Given the description of an element on the screen output the (x, y) to click on. 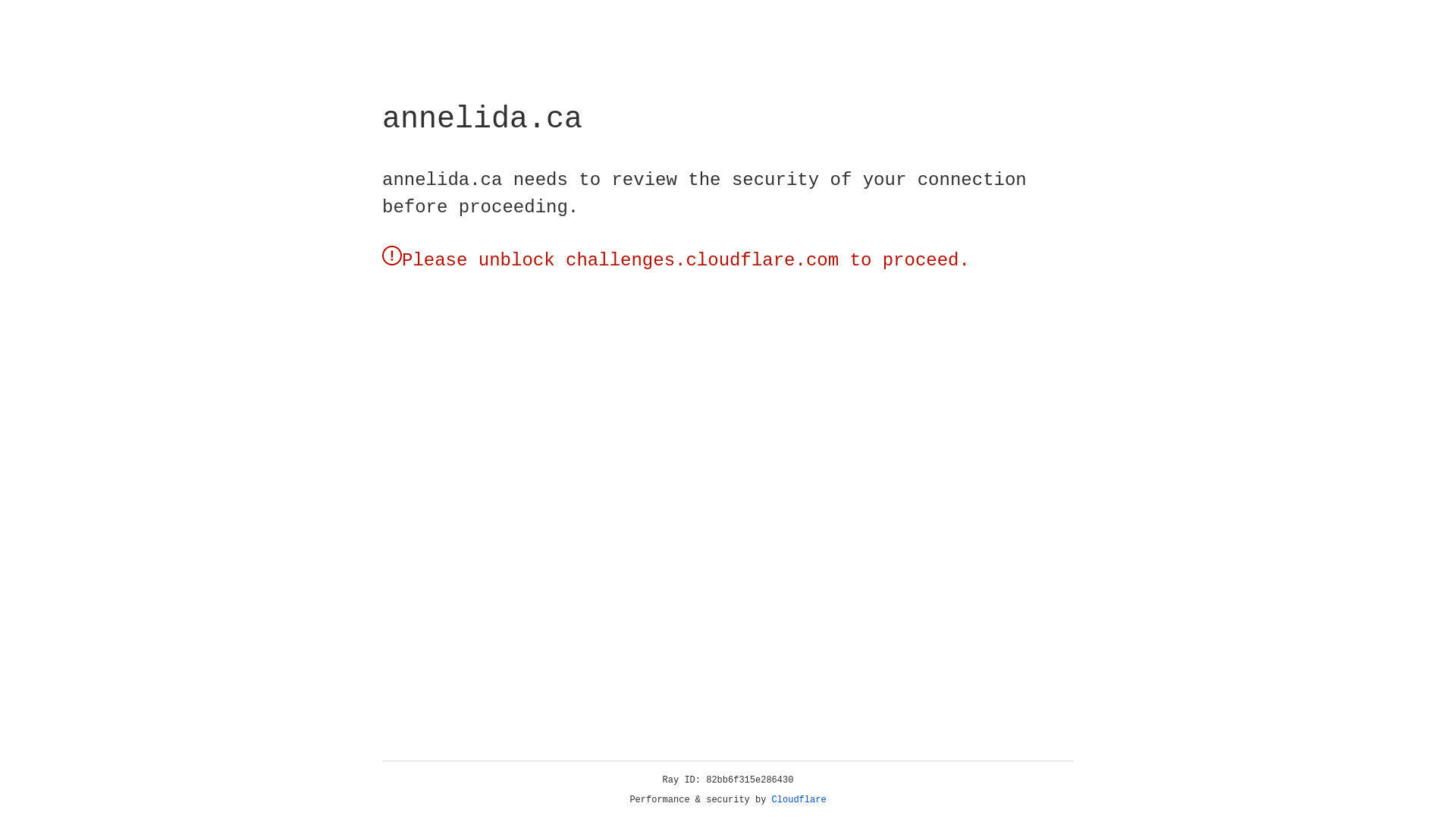
Cloudflare Element type: text (798, 799)
